Given the description of an element on the screen output the (x, y) to click on. 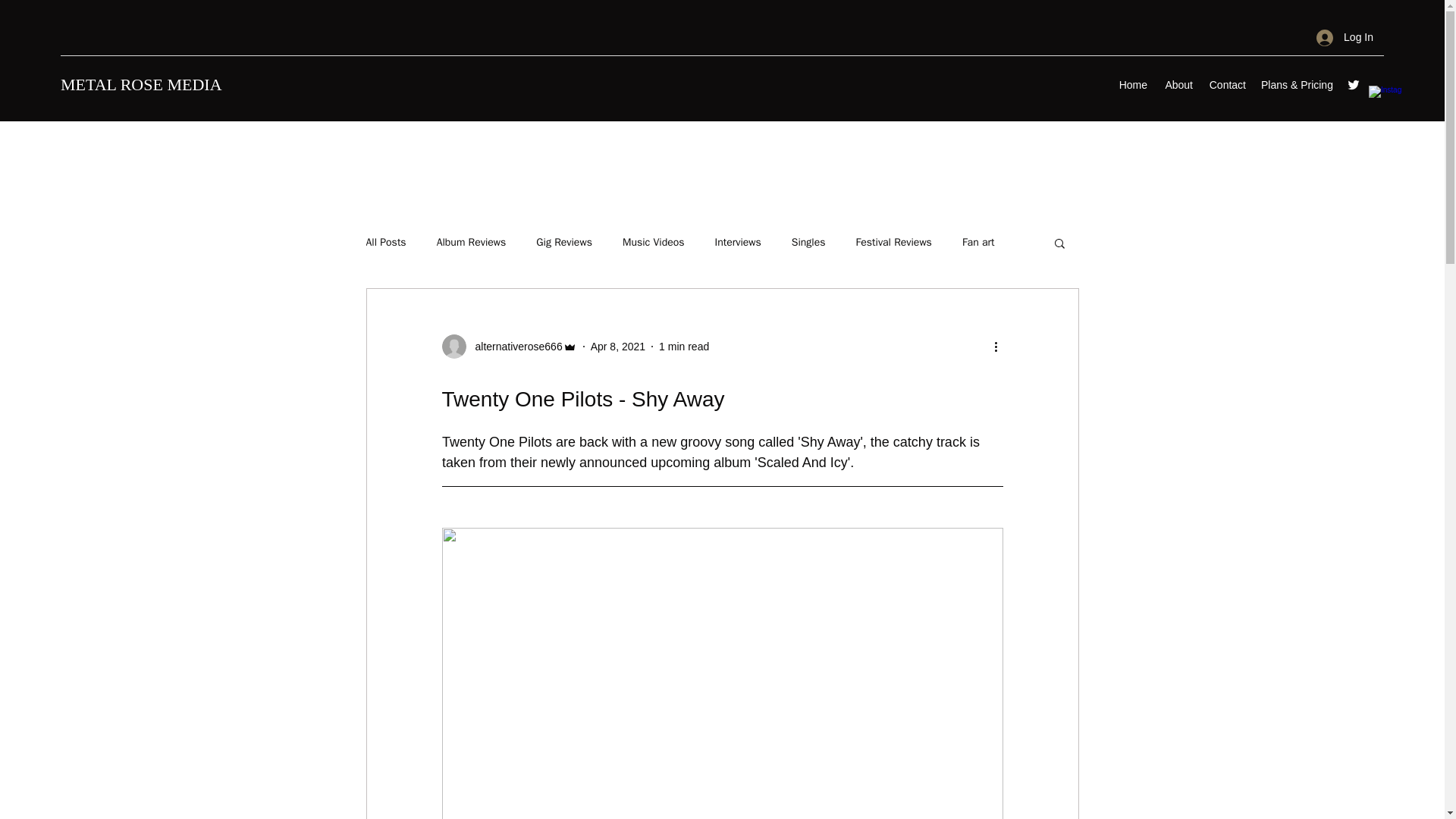
alternativerose666 (508, 346)
Album Reviews (471, 242)
Interviews (737, 242)
Log In (1345, 37)
Singles (808, 242)
Festival Reviews (893, 242)
1 min read (684, 345)
Apr 8, 2021 (618, 345)
About (1176, 84)
Gig Reviews (563, 242)
alternativerose666 (513, 345)
Contact (1226, 84)
Home (1132, 84)
Fan art (978, 242)
METAL ROSE MEDIA (141, 84)
